Given the description of an element on the screen output the (x, y) to click on. 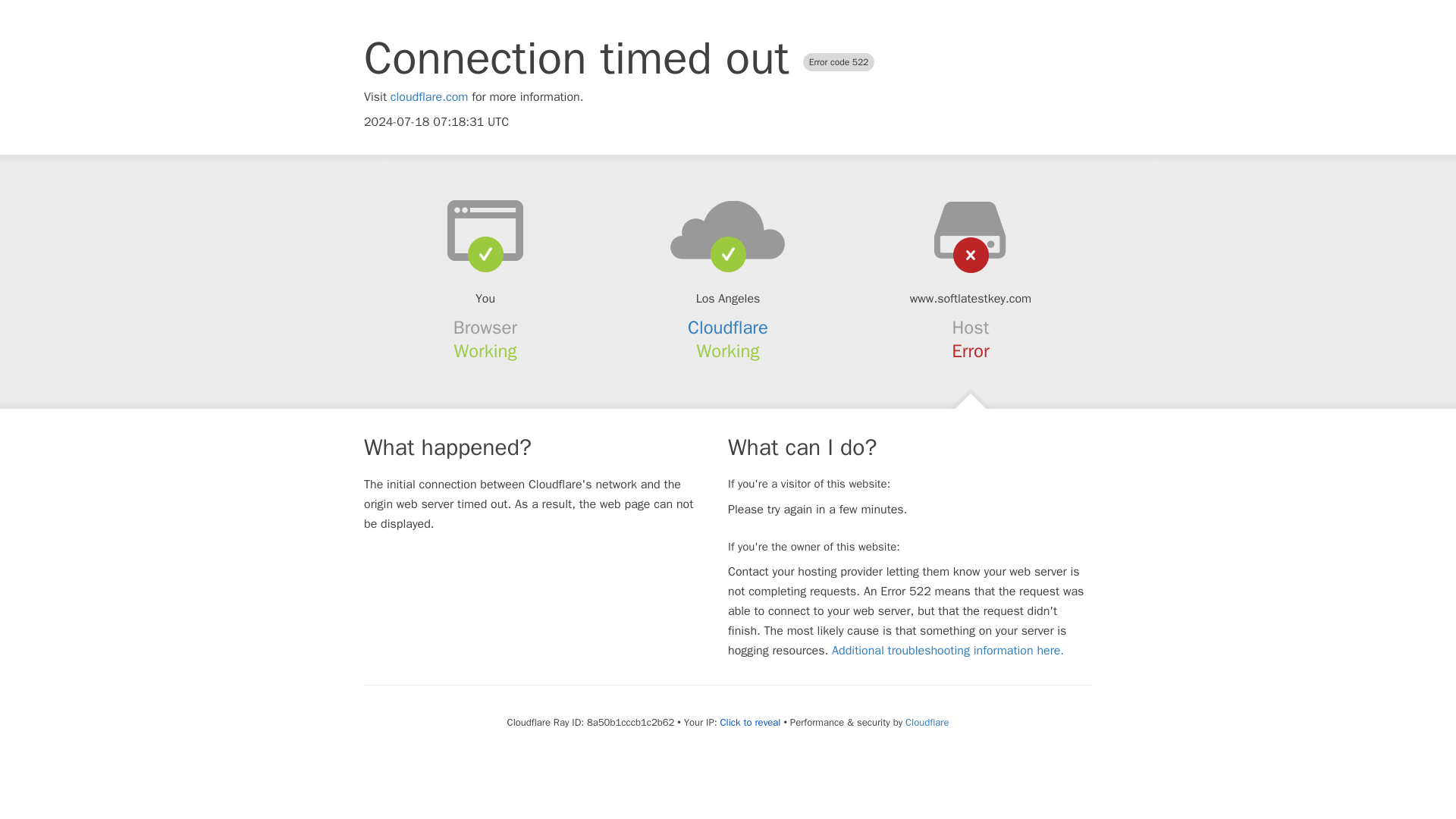
cloudflare.com (429, 96)
Cloudflare (927, 721)
Additional troubleshooting information here. (947, 650)
Cloudflare (727, 327)
Click to reveal (750, 722)
